Given the description of an element on the screen output the (x, y) to click on. 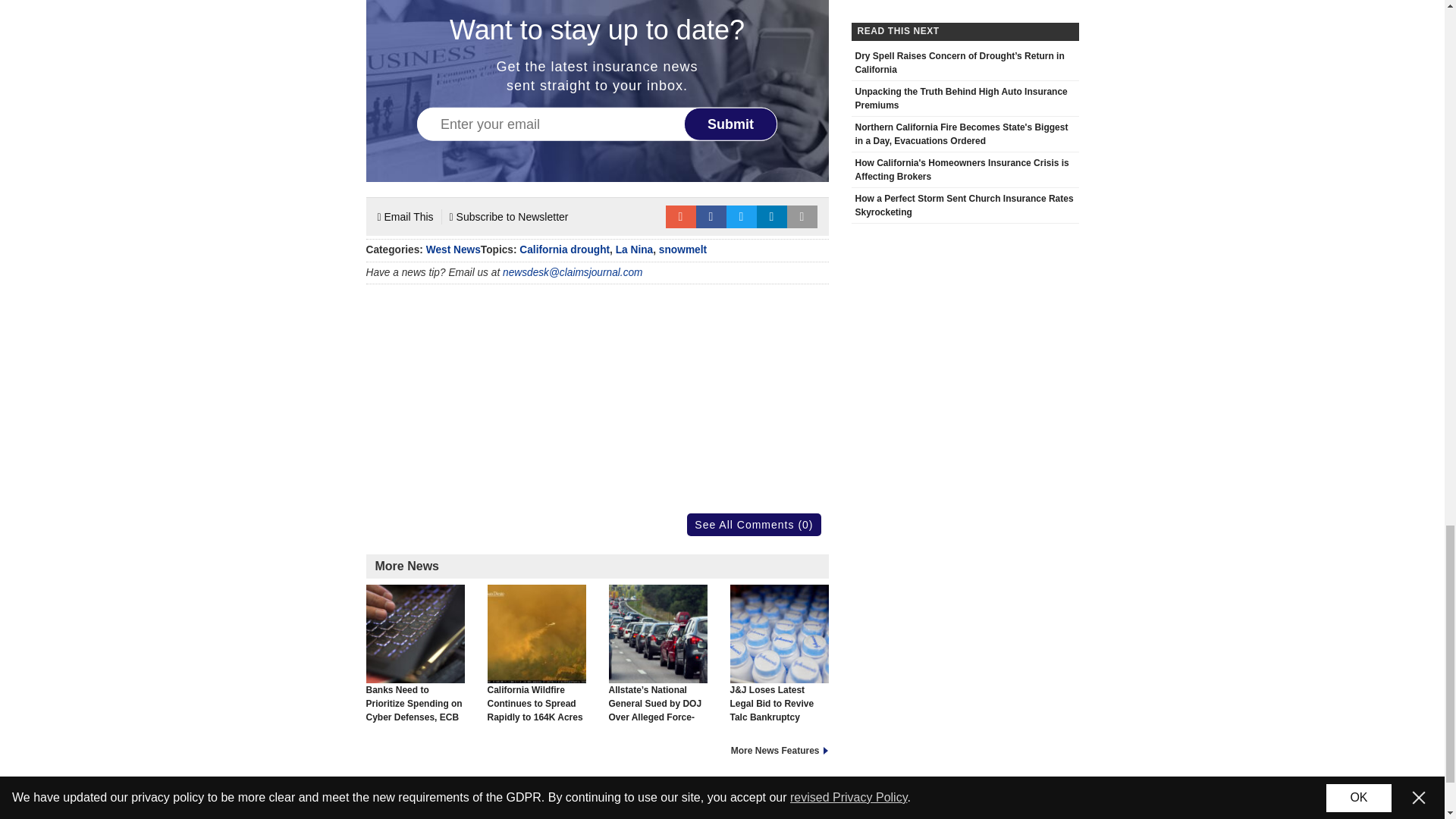
Email to a friend (680, 216)
Share on LinkedIn. (772, 216)
Submit (730, 123)
Print Article (801, 216)
Post to Facebook. (710, 216)
Share on Twitter. (741, 216)
